Given the description of an element on the screen output the (x, y) to click on. 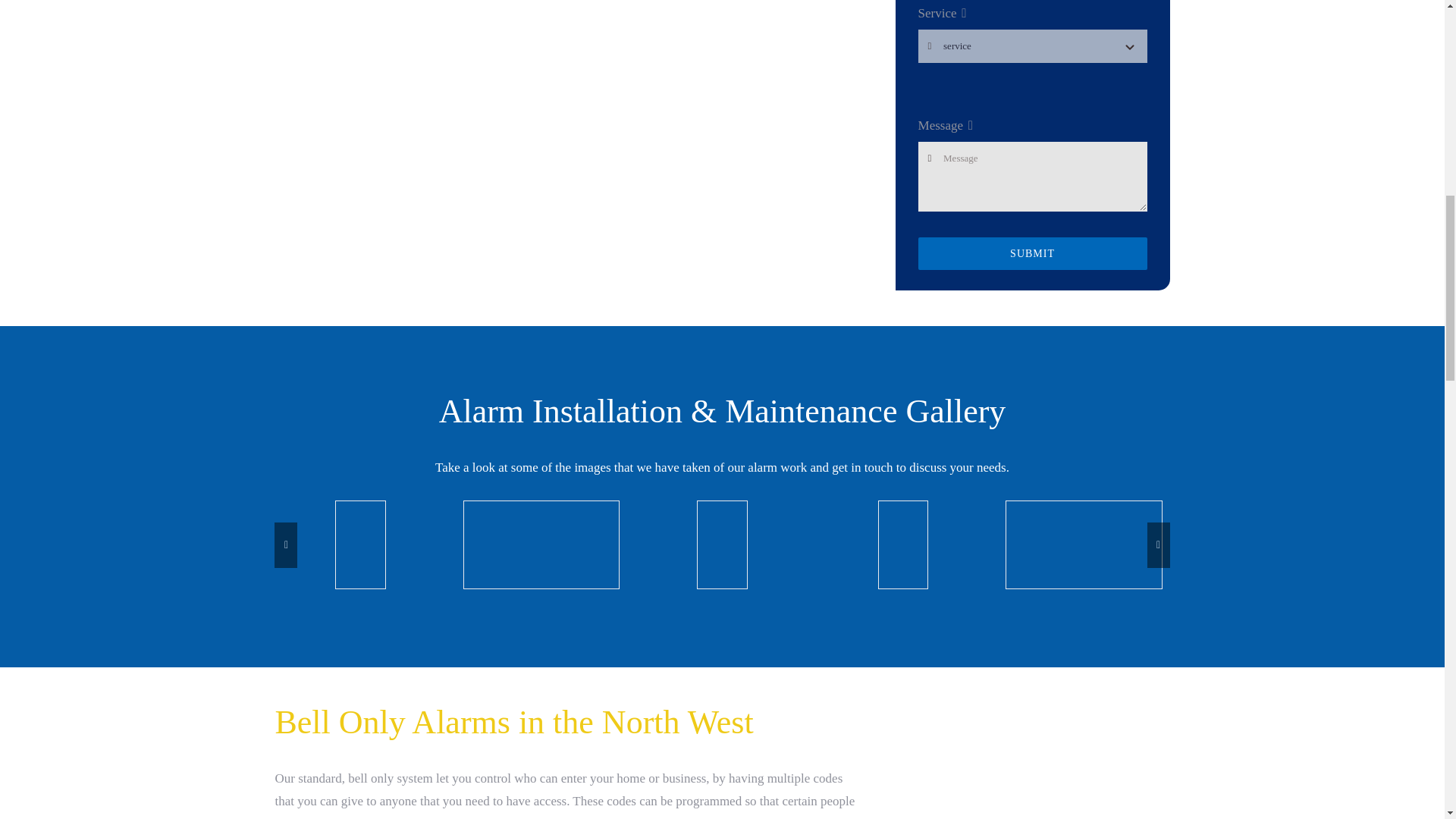
SUBMIT (1032, 253)
